Given the description of an element on the screen output the (x, y) to click on. 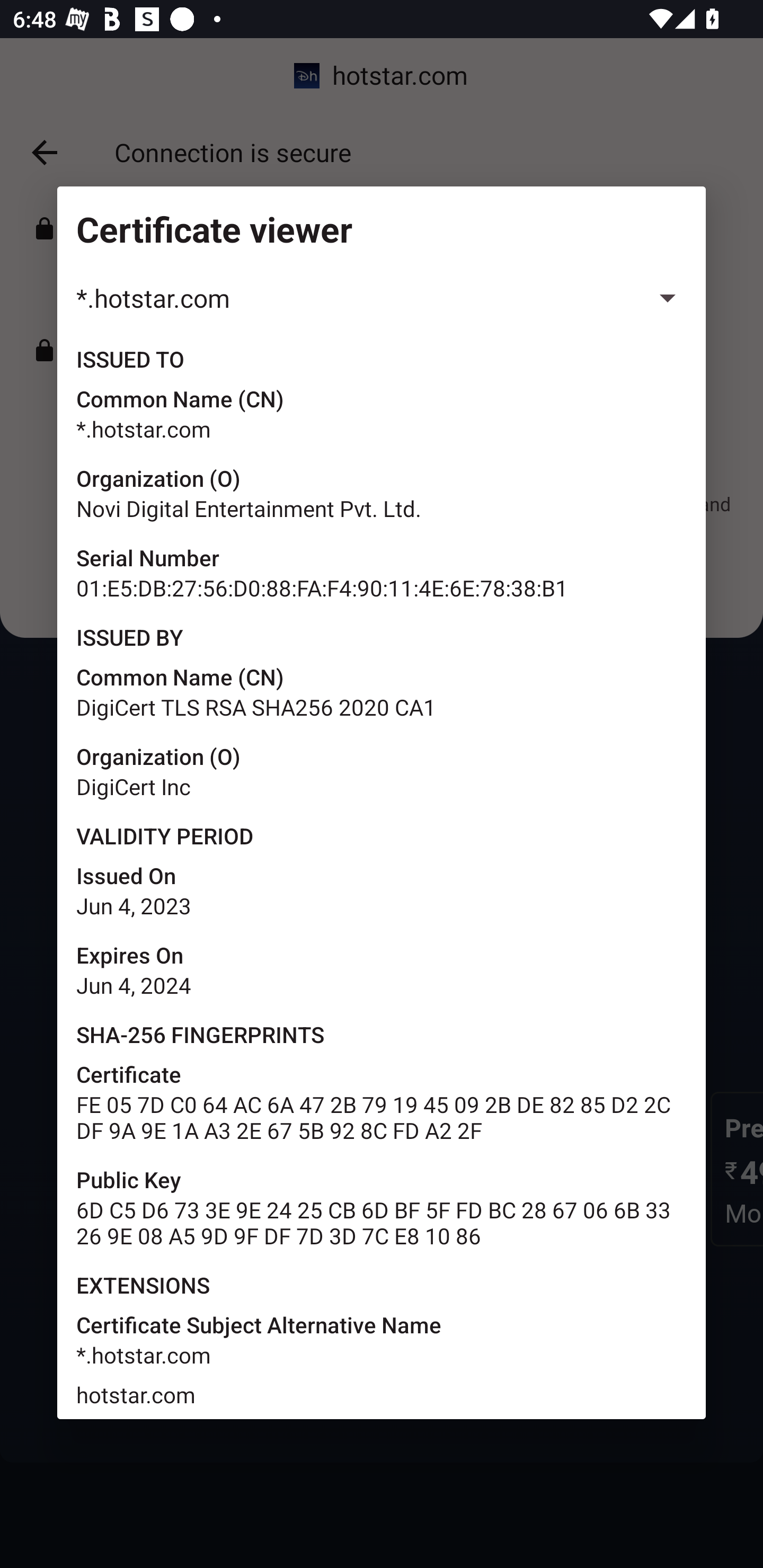
*.hotstar.com (381, 297)
